Given the description of an element on the screen output the (x, y) to click on. 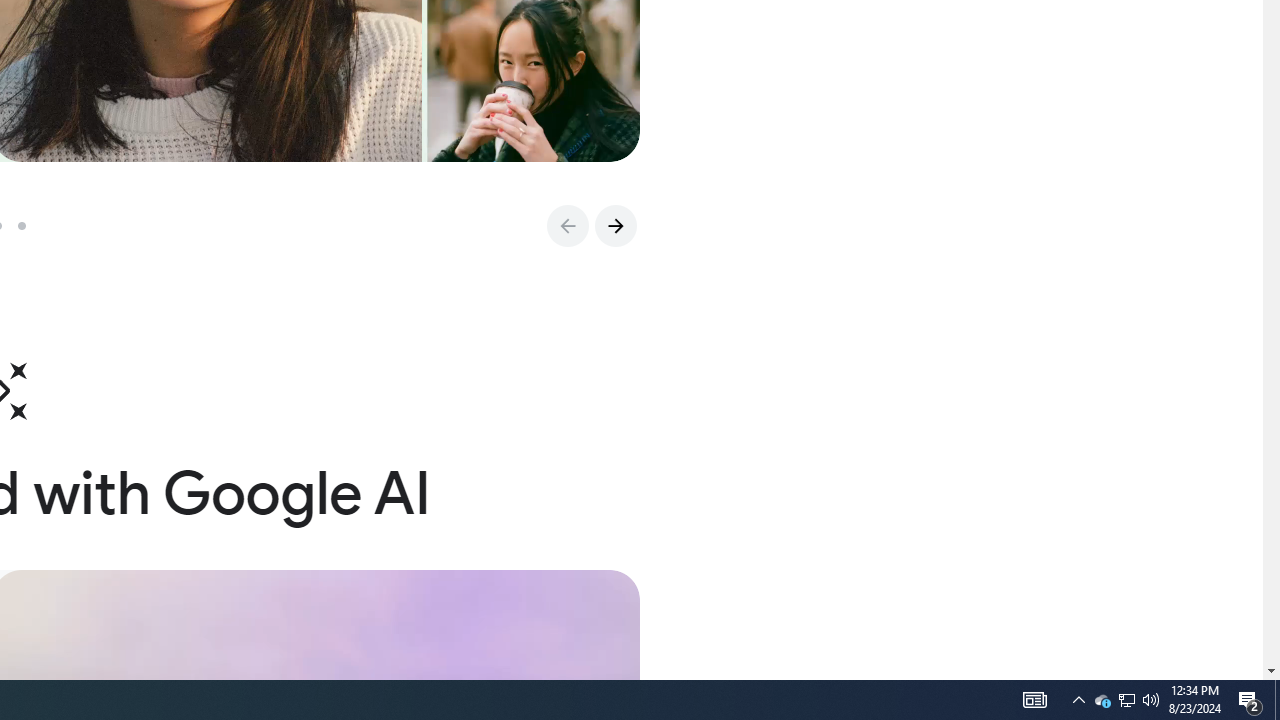
Go to Next Slide (615, 225)
Go to slide 3 (29, 225)
Go to Previous Slide (567, 225)
